Given the description of an element on the screen output the (x, y) to click on. 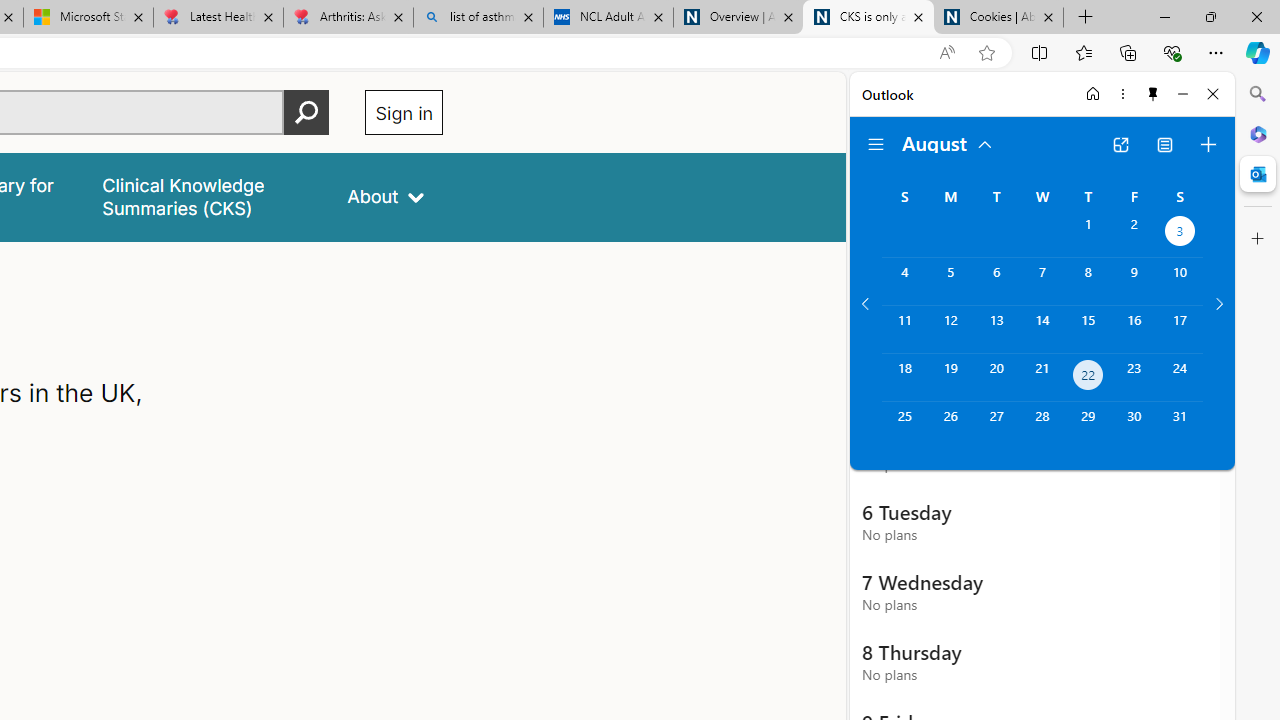
Sunday, August 4, 2024.  (904, 281)
Monday, August 26, 2024.  (950, 425)
CKS is only available in the UK | NICE (868, 17)
Saturday, August 10, 2024.  (1180, 281)
NCL Adult Asthma Inhaler Choice Guideline (608, 17)
Folder navigation (876, 144)
Sign in (404, 112)
Sunday, August 11, 2024.  (904, 329)
Thursday, August 22, 2024. Today.  (1088, 377)
